Given the description of an element on the screen output the (x, y) to click on. 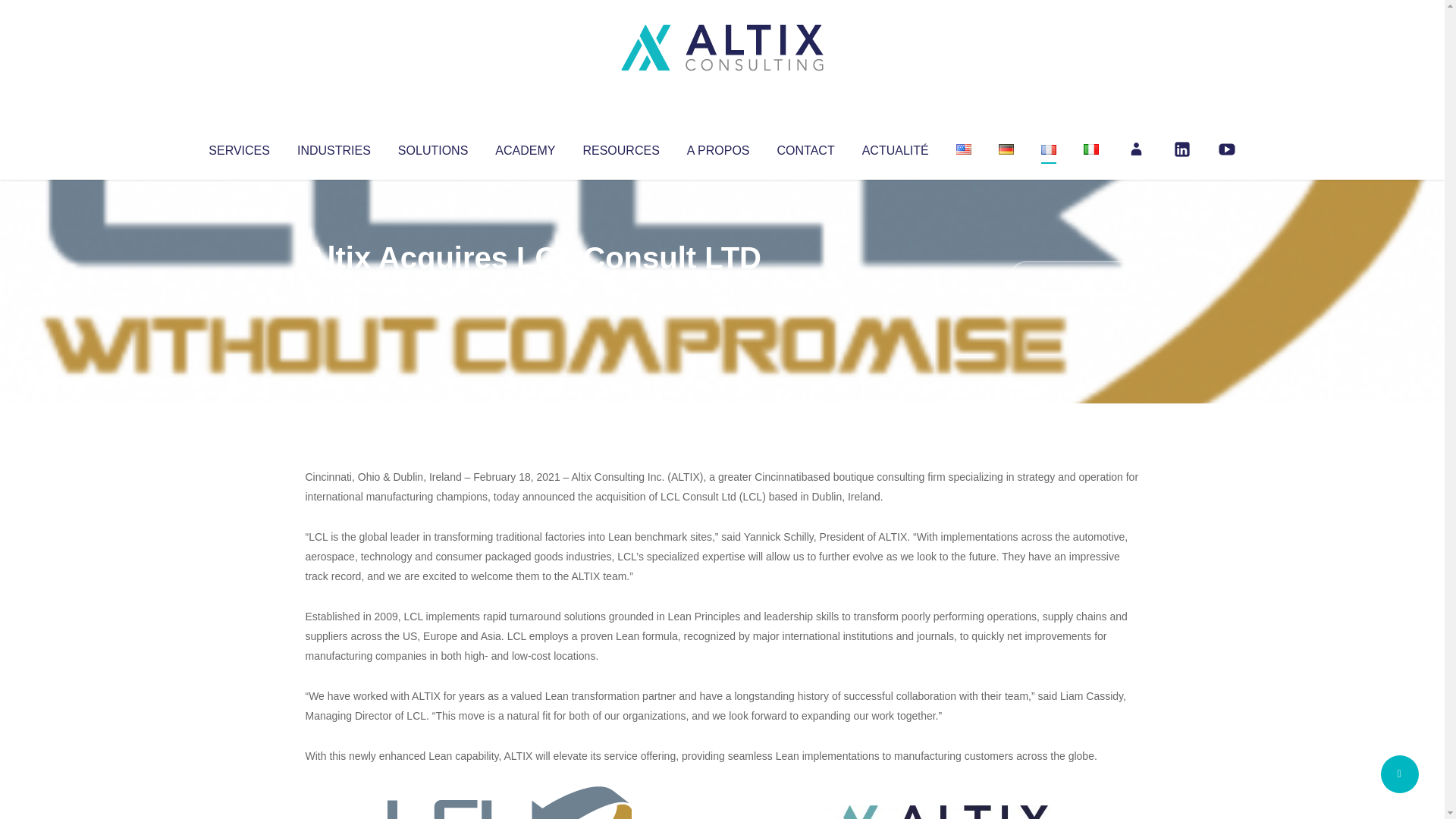
SOLUTIONS (432, 146)
INDUSTRIES (334, 146)
RESOURCES (620, 146)
Altix (333, 287)
SERVICES (238, 146)
Uncategorized (530, 287)
ACADEMY (524, 146)
Articles par Altix (333, 287)
No Comments (1073, 278)
A PROPOS (718, 146)
